Given the description of an element on the screen output the (x, y) to click on. 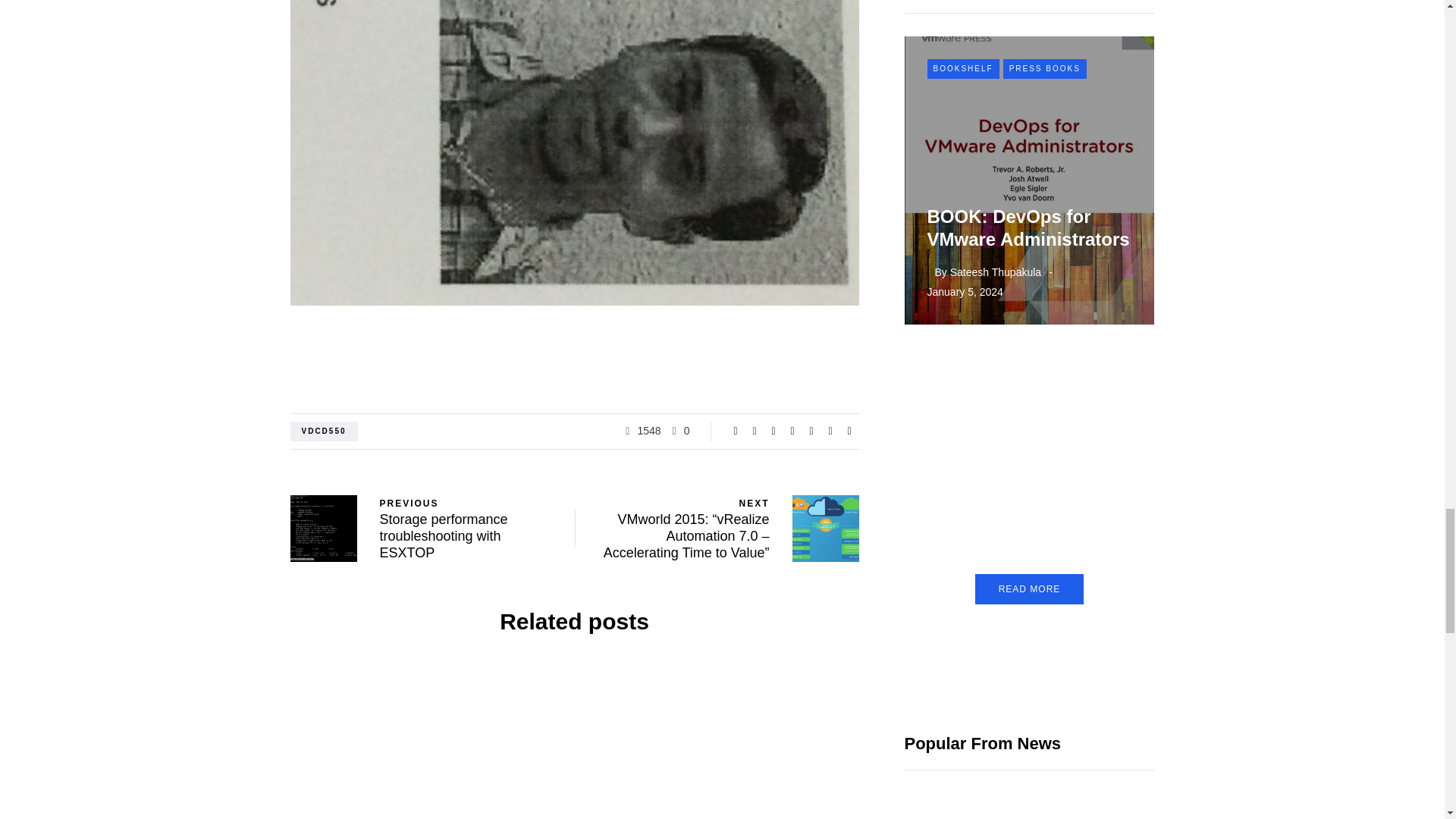
Tweet this (753, 430)
Share to Telegram (830, 430)
Share with LinkedIn (773, 430)
Share with Facebook (735, 430)
Pin this (792, 430)
Share to WhatsApp (811, 430)
